Given the description of an element on the screen output the (x, y) to click on. 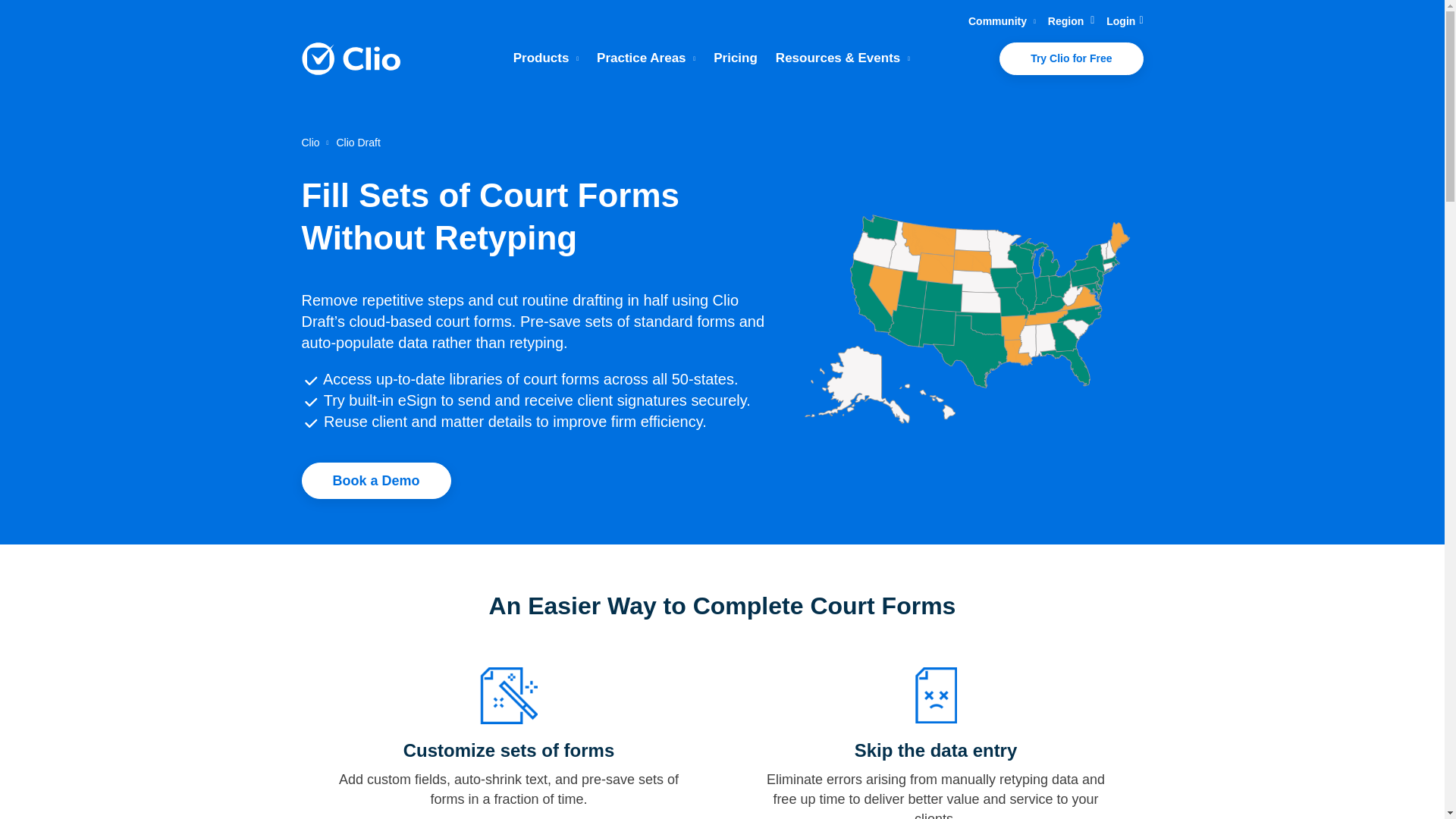
Login (1124, 21)
Clio logo (350, 59)
Products (545, 58)
Community (1001, 21)
Region (1071, 21)
